Given the description of an element on the screen output the (x, y) to click on. 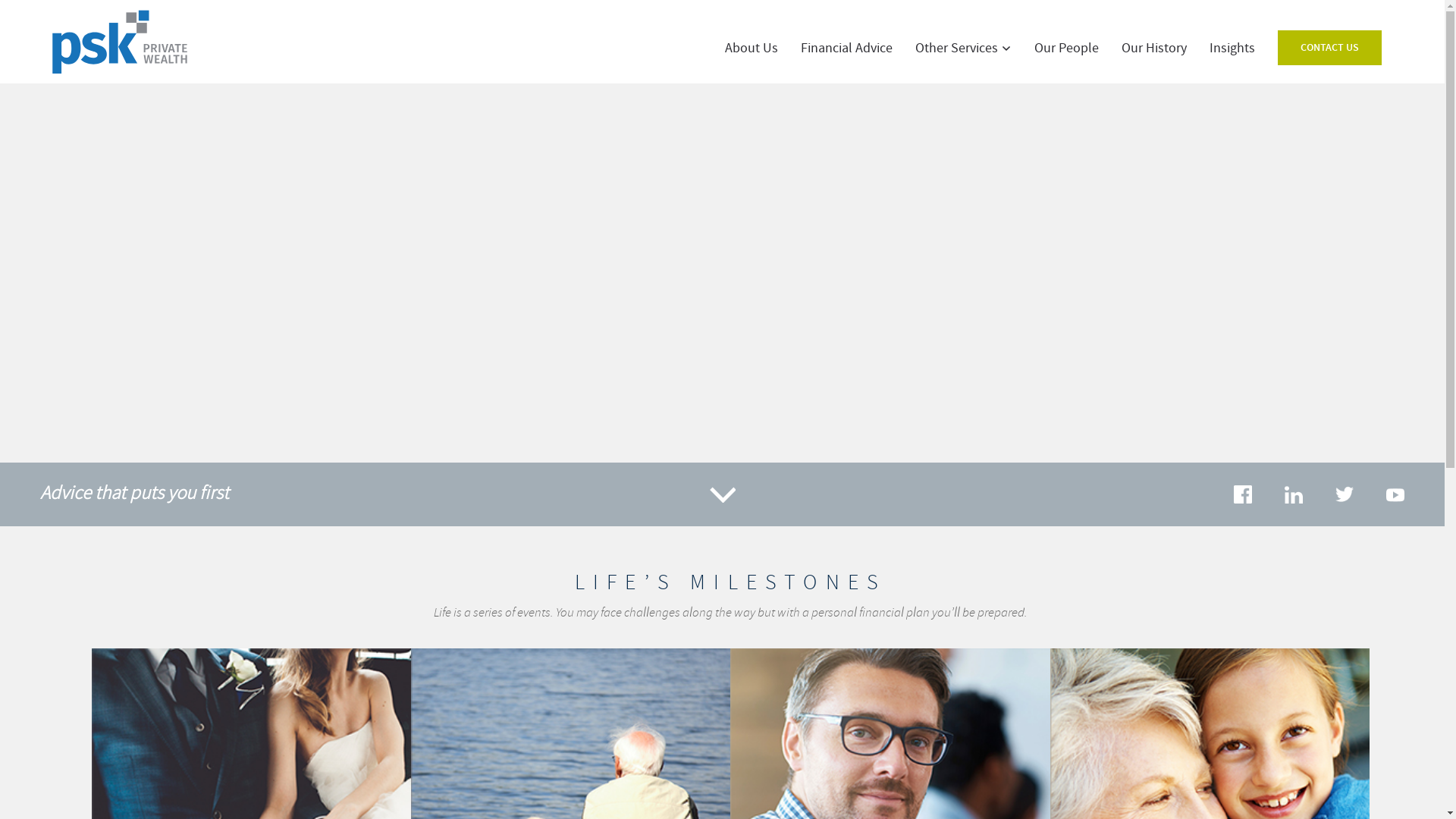
Our History Element type: text (1153, 48)
CONTACT US Element type: text (1329, 47)
Insights Element type: text (1232, 48)
Our People Element type: text (1066, 48)
Financial Advice Element type: text (846, 48)
About Us Element type: text (751, 48)
Other Services Element type: text (963, 48)
